Given the description of an element on the screen output the (x, y) to click on. 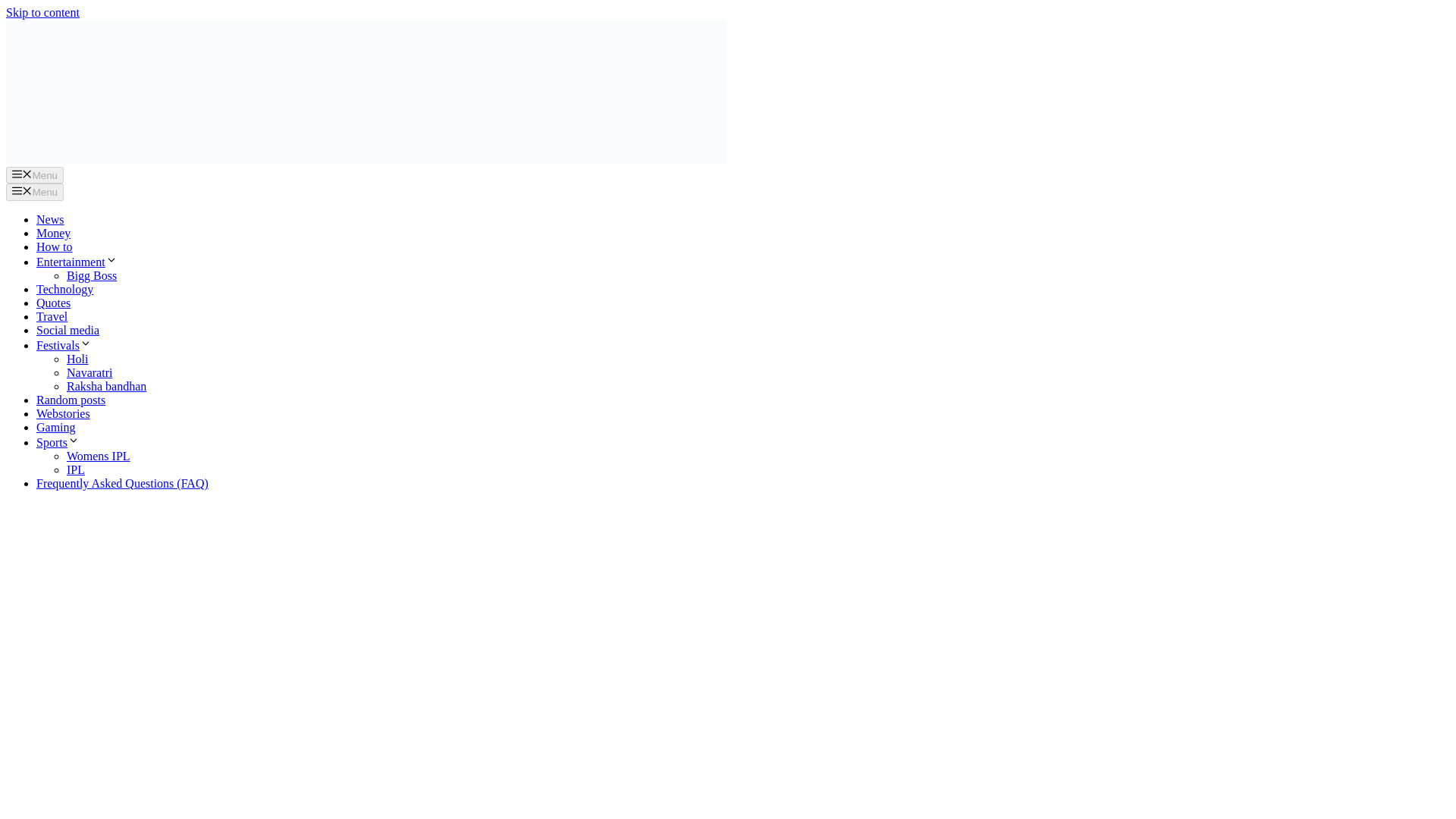
Menu (34, 191)
Skip to content (42, 11)
Gaming (55, 427)
Webstories (63, 413)
Navaratri (89, 372)
News (50, 219)
Skip to content (42, 11)
Social media (67, 329)
How to (54, 246)
Bigg Boss (91, 275)
